Given the description of an element on the screen output the (x, y) to click on. 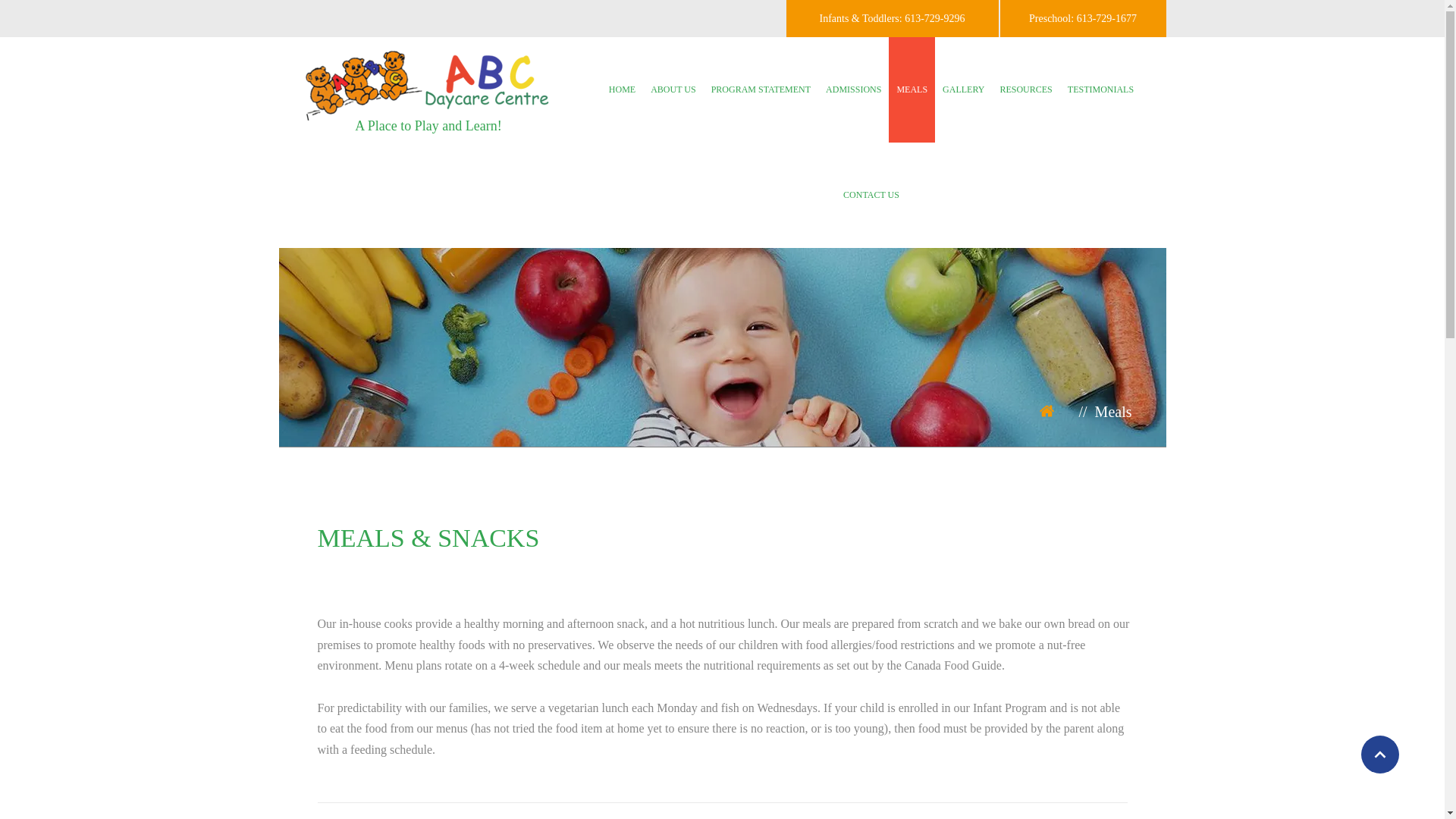
Preschool: 613-729-1677 (1082, 18)
PROGRAM STATEMENT (760, 89)
